Given the description of an element on the screen output the (x, y) to click on. 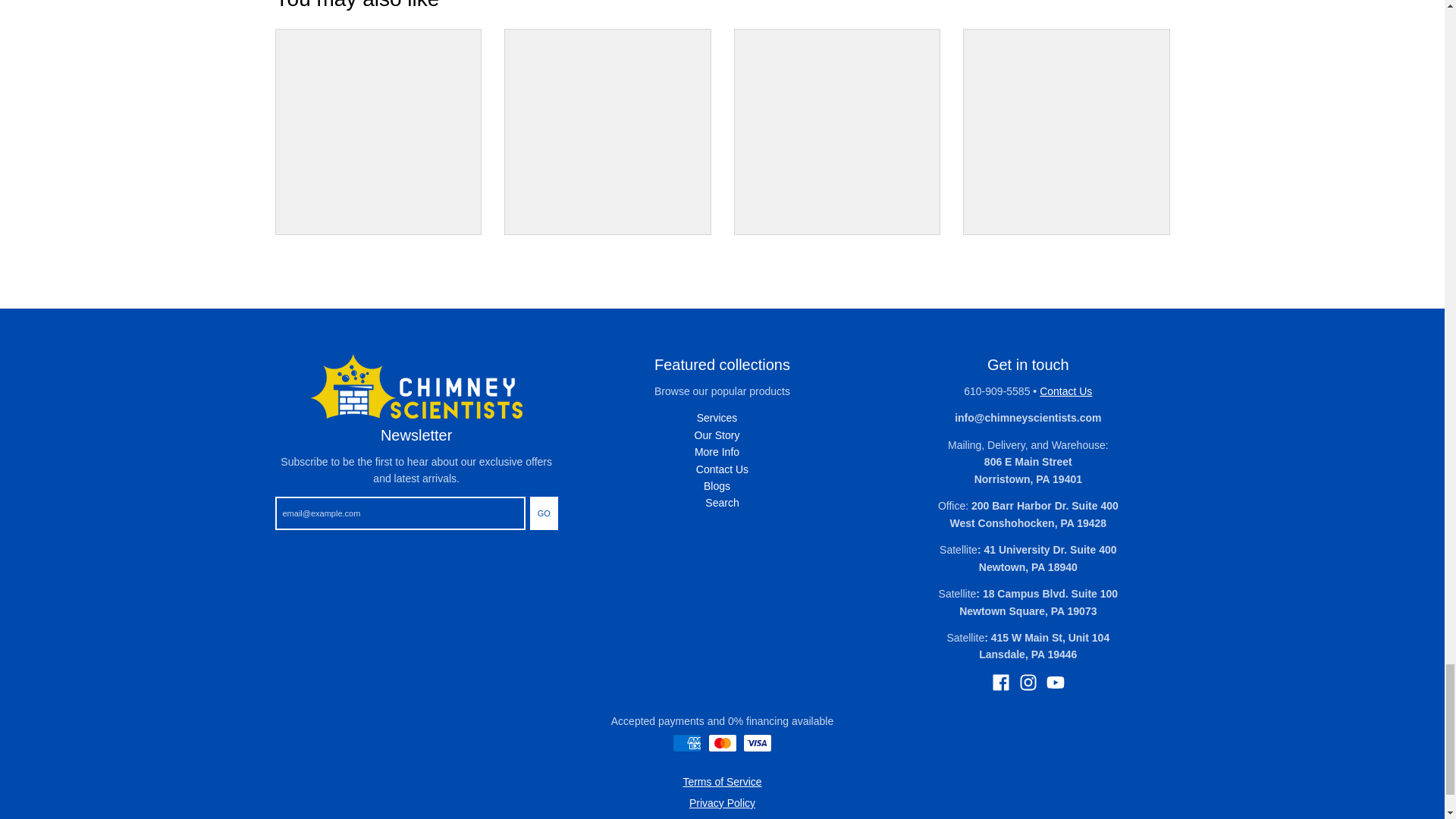
Facebook - Chimney Scientist (1000, 682)
Instagram - Chimney Scientist (1027, 682)
YouTube - Chimney Scientist (1055, 682)
